Given the description of an element on the screen output the (x, y) to click on. 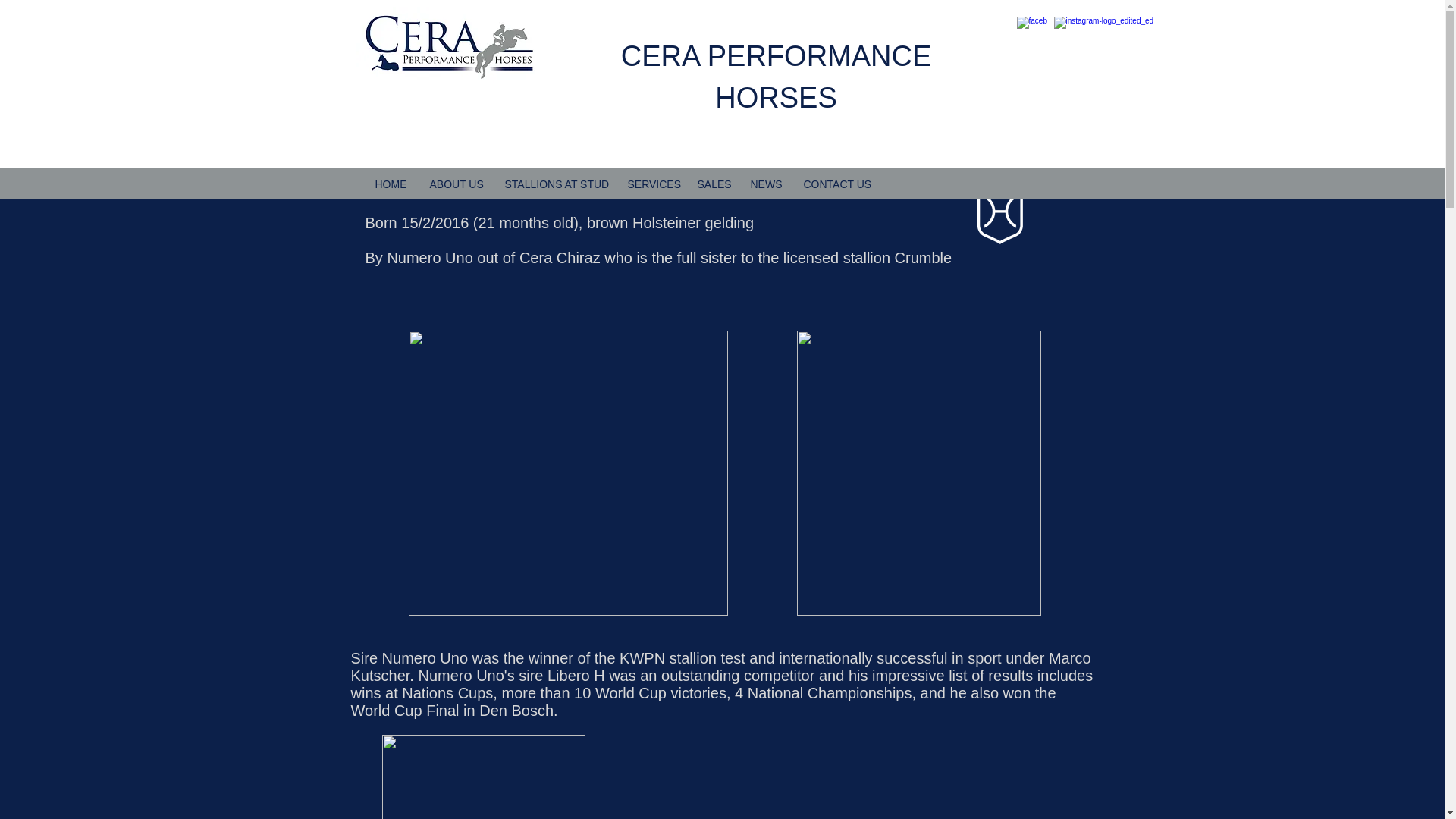
SALES (711, 183)
CONTACT US (835, 183)
SERVICES (650, 183)
External YouTube (843, 812)
ABOUT US (456, 183)
NEWS (765, 183)
STALLIONS AT STUD (554, 183)
HOME (391, 183)
